Given the description of an element on the screen output the (x, y) to click on. 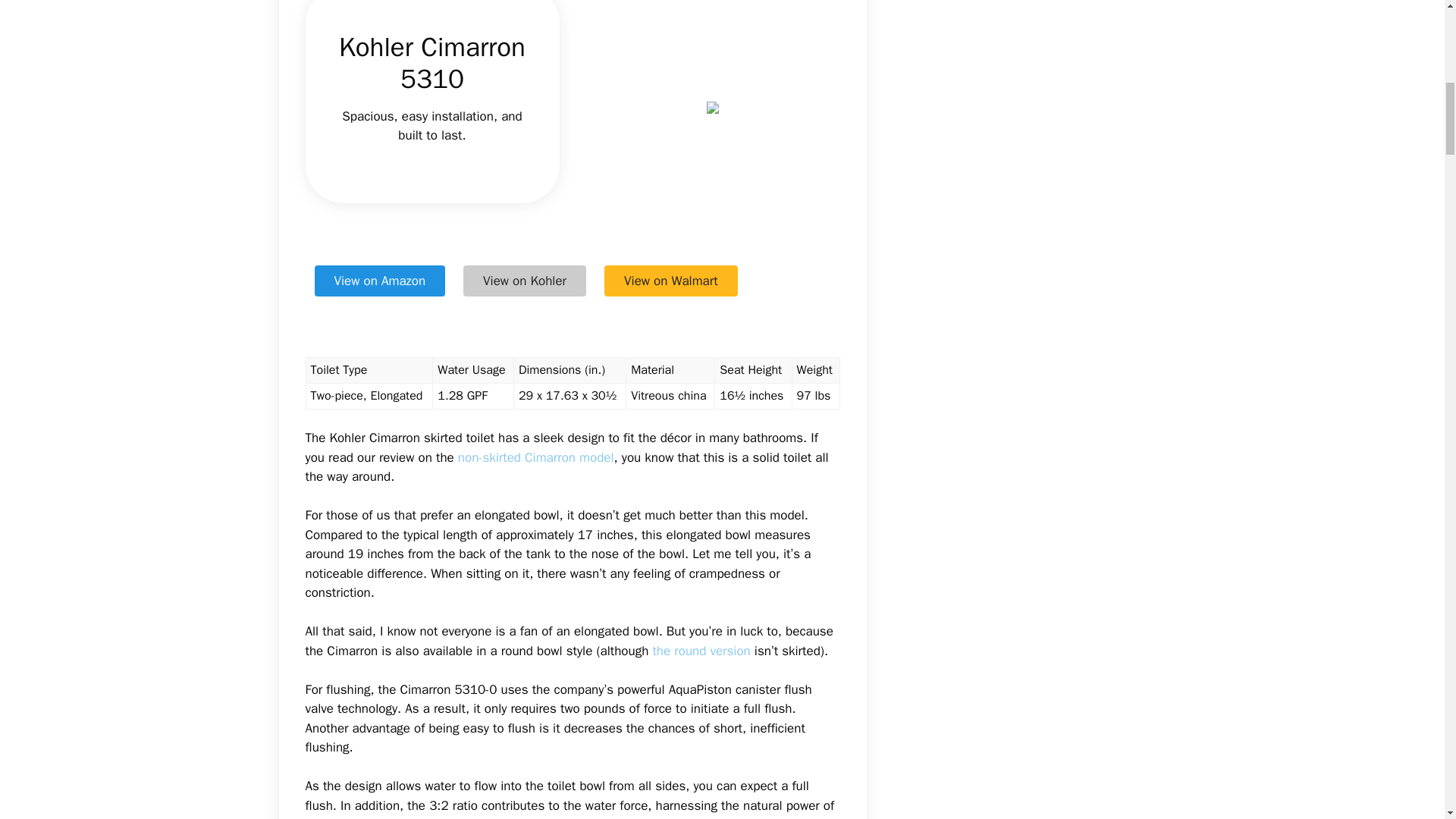
Scroll back to top (1406, 720)
